Given the description of an element on the screen output the (x, y) to click on. 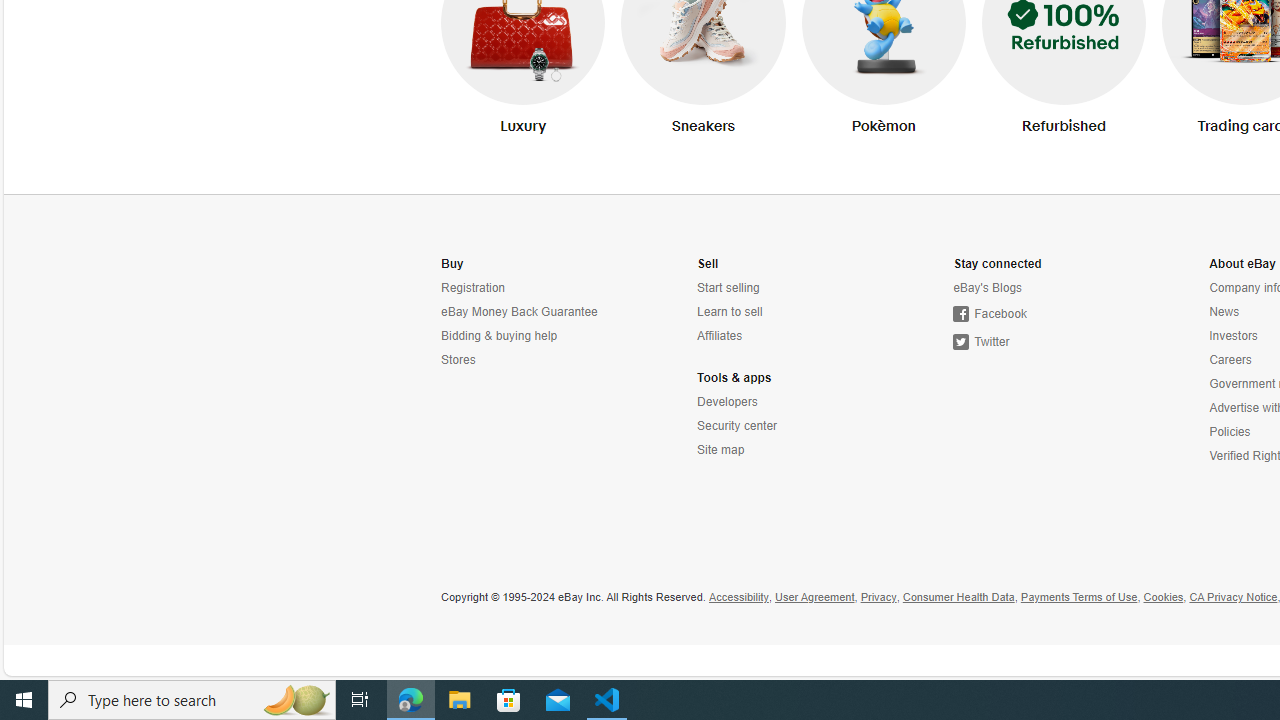
Site map (720, 450)
Payments Terms of Use (1078, 597)
Learn to sell (729, 312)
eBay's Blogs (987, 288)
eBay Money Back Guarantee (529, 312)
Facebook (1042, 314)
CA Privacy Notice (1233, 597)
Affiliates (719, 335)
Site map (786, 450)
